Given the description of an element on the screen output the (x, y) to click on. 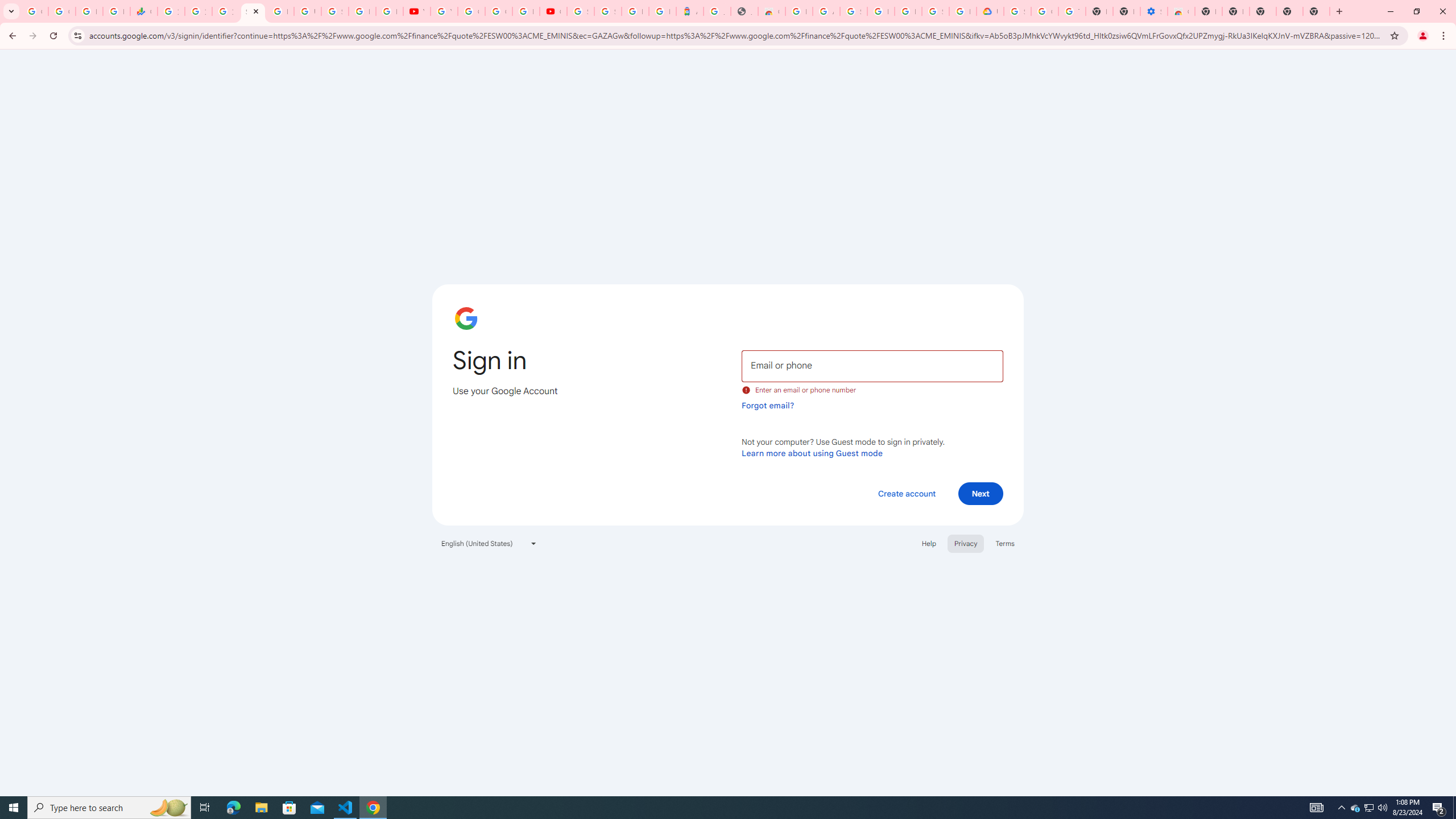
Create your Google Account (498, 11)
Email or phone (871, 365)
Settings - Accessibility (1153, 11)
Privacy Checkup (389, 11)
Chrome Web Store - Accessibility extensions (1180, 11)
Next (980, 493)
